Given the description of an element on the screen output the (x, y) to click on. 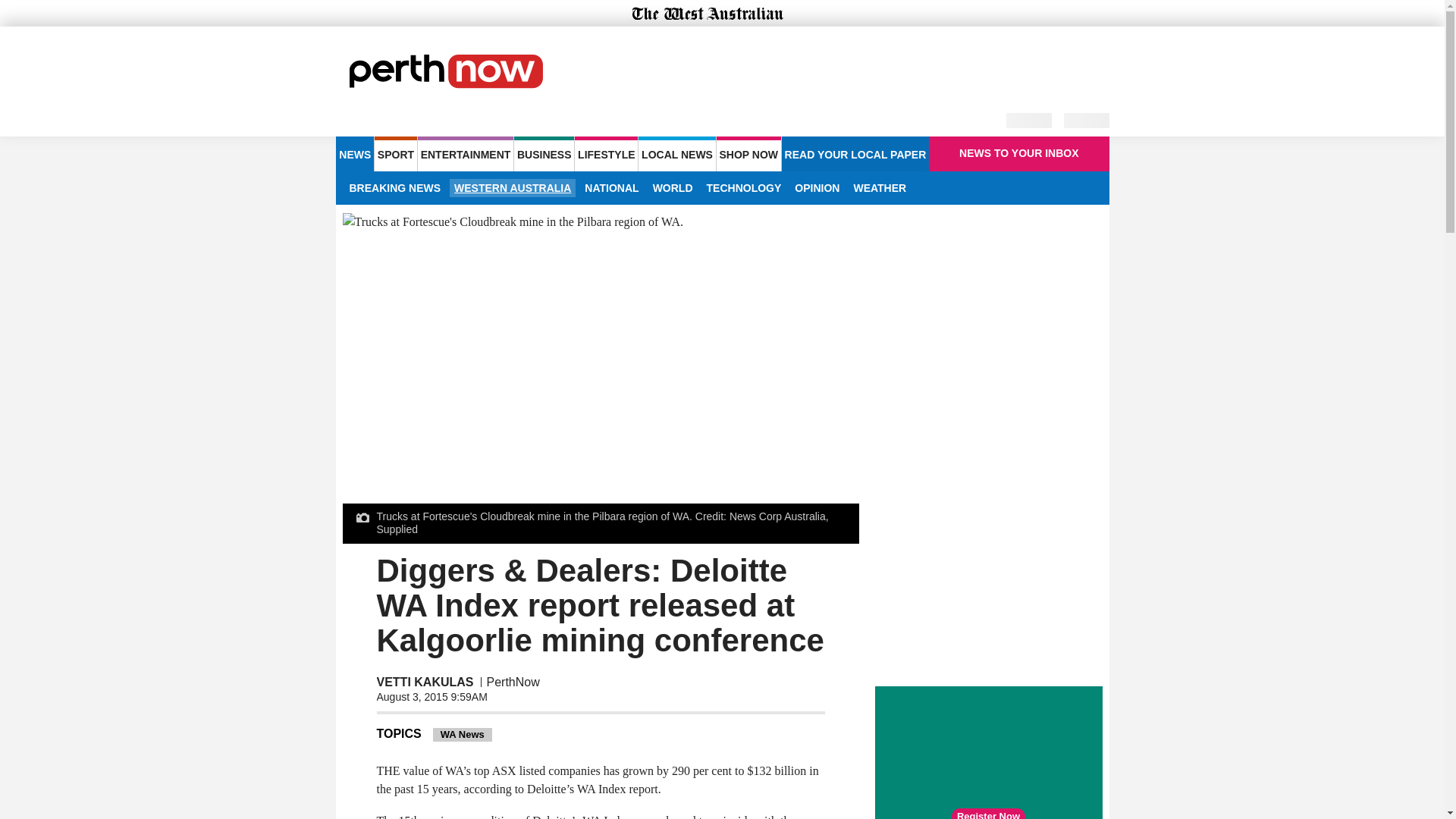
SPORT (395, 153)
BUSINESS (543, 153)
NEWS (354, 153)
ENTERTAINMENT (465, 153)
